Given the description of an element on the screen output the (x, y) to click on. 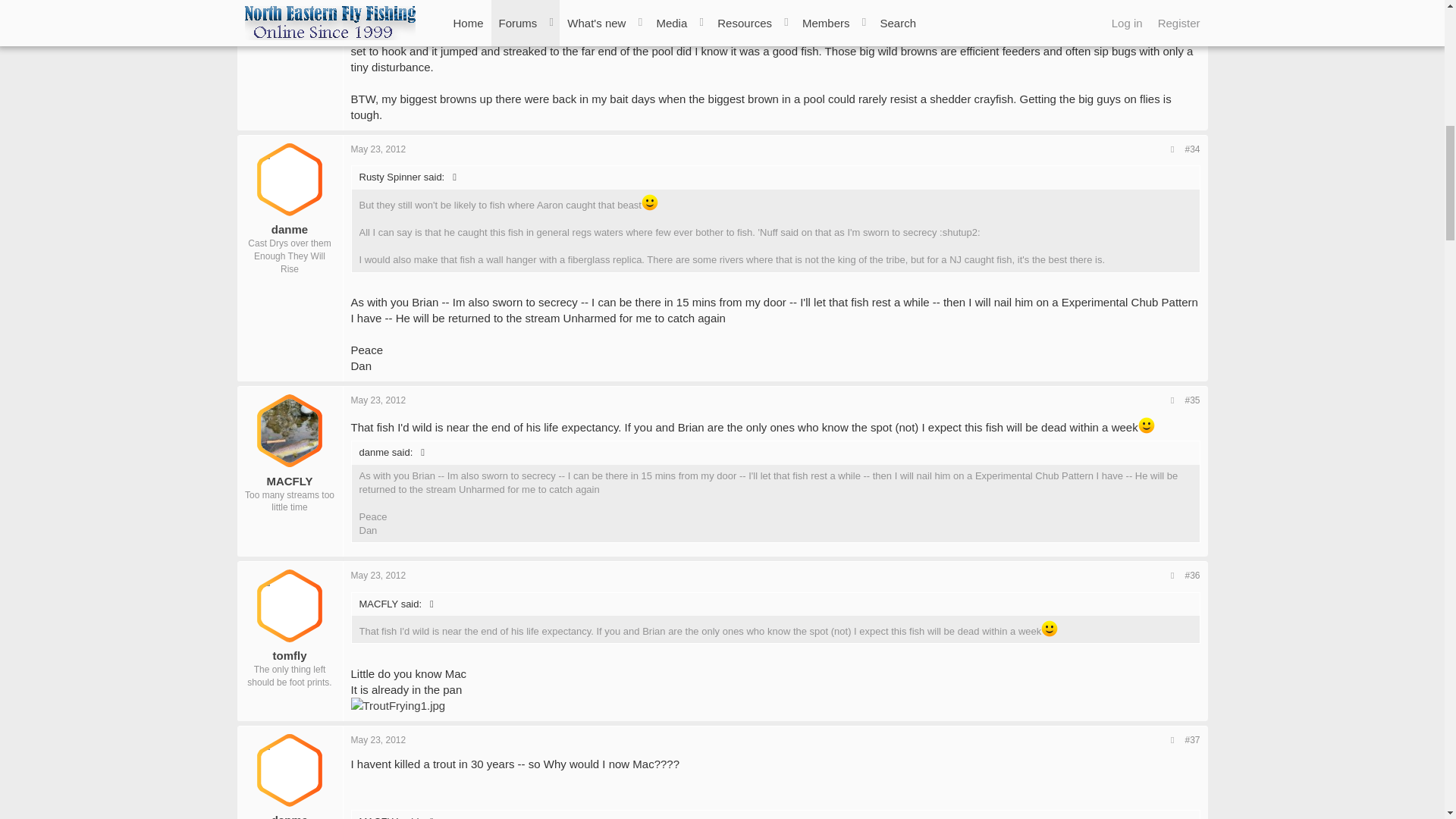
May 23, 2012 at 3:36 PM (378, 399)
May 23, 2012 at 3:22 PM (378, 149)
May 23, 2012 at 3:58 PM (378, 575)
